Given the description of an element on the screen output the (x, y) to click on. 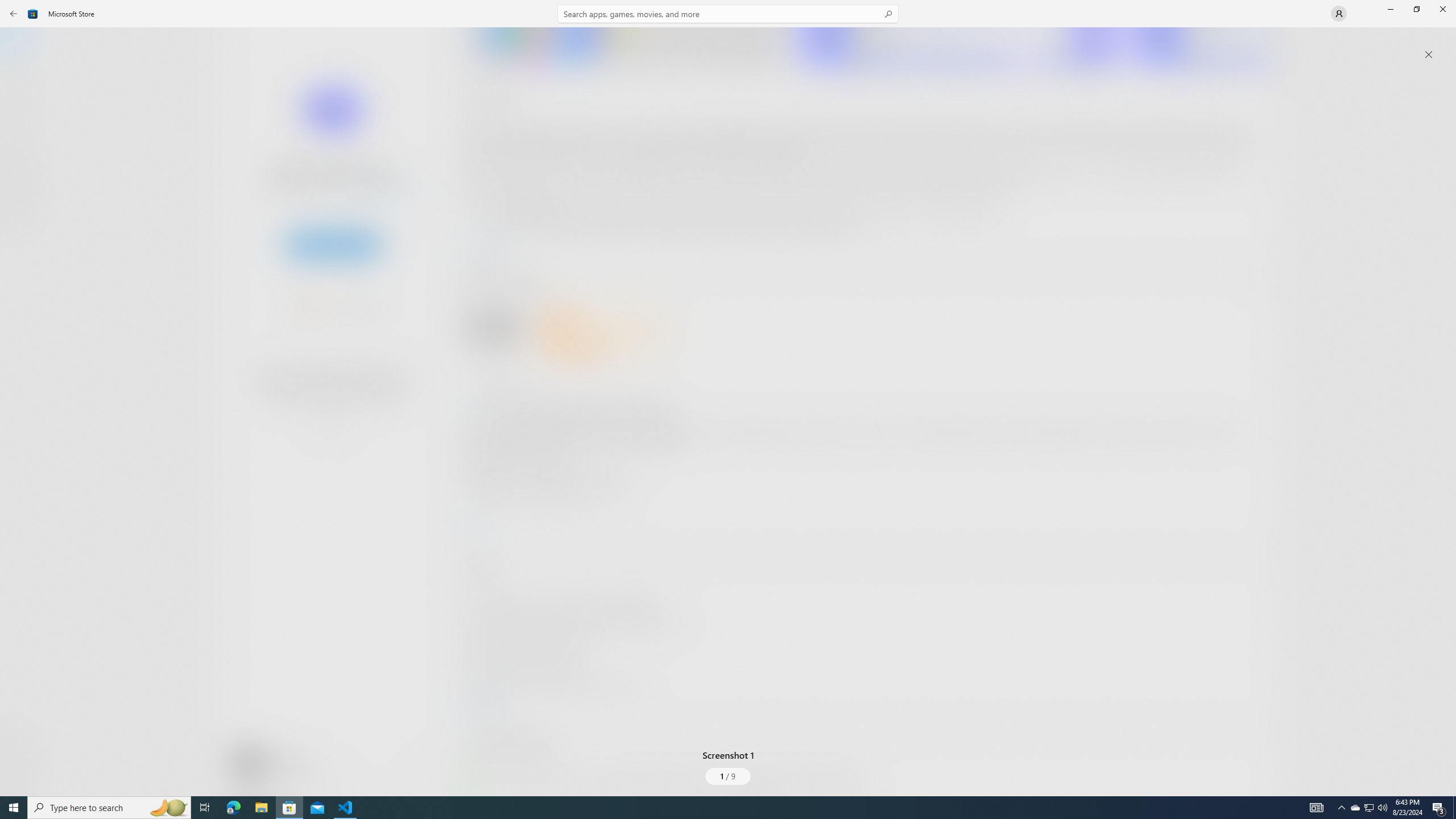
Show less (482, 703)
Close Microsoft Store (1442, 9)
Arcade (20, 150)
Screenshot 3 (1201, 46)
Install (334, 244)
User profile (1338, 13)
Entertainment (20, 185)
Apps (20, 80)
Show more (485, 793)
What's New (20, 738)
Back (13, 13)
Restore Microsoft Store (1416, 9)
Sign in to review (501, 379)
Minimize Microsoft Store (1390, 9)
close popup window (1428, 54)
